Given the description of an element on the screen output the (x, y) to click on. 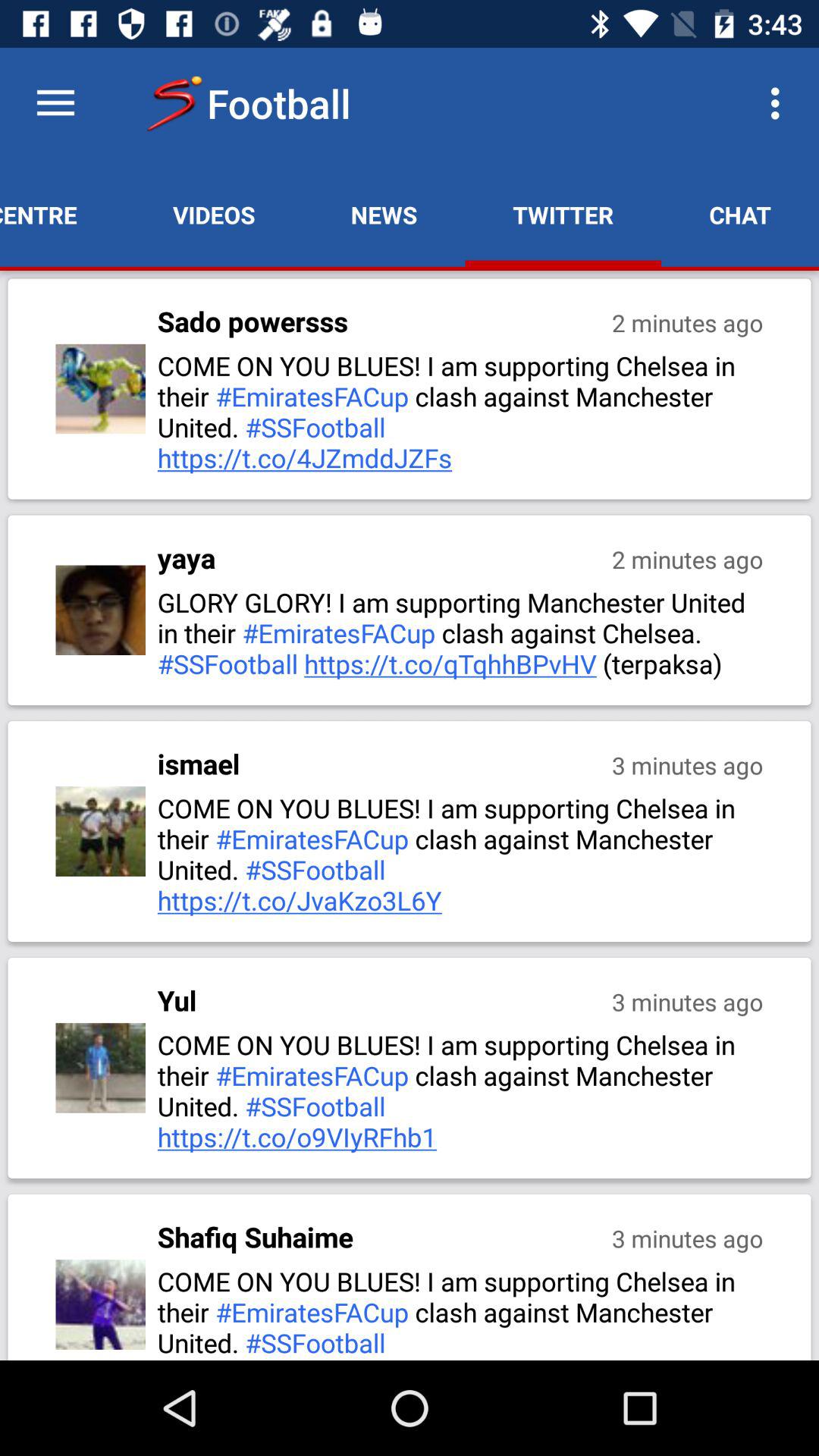
open settings menu (55, 103)
